Given the description of an element on the screen output the (x, y) to click on. 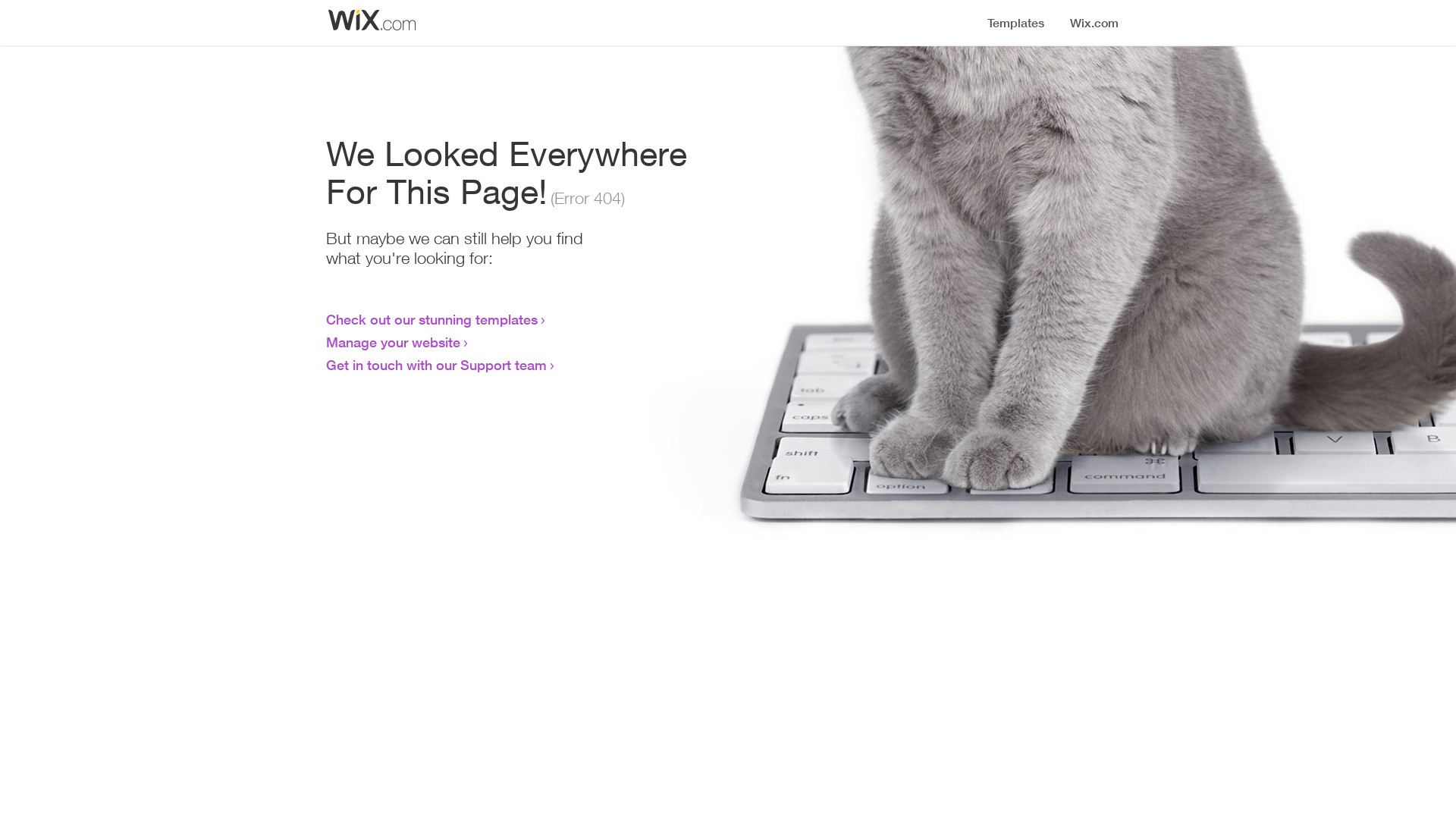
Manage your website Element type: text (393, 341)
Check out our stunning templates Element type: text (431, 318)
Get in touch with our Support team Element type: text (436, 364)
